Given the description of an element on the screen output the (x, y) to click on. 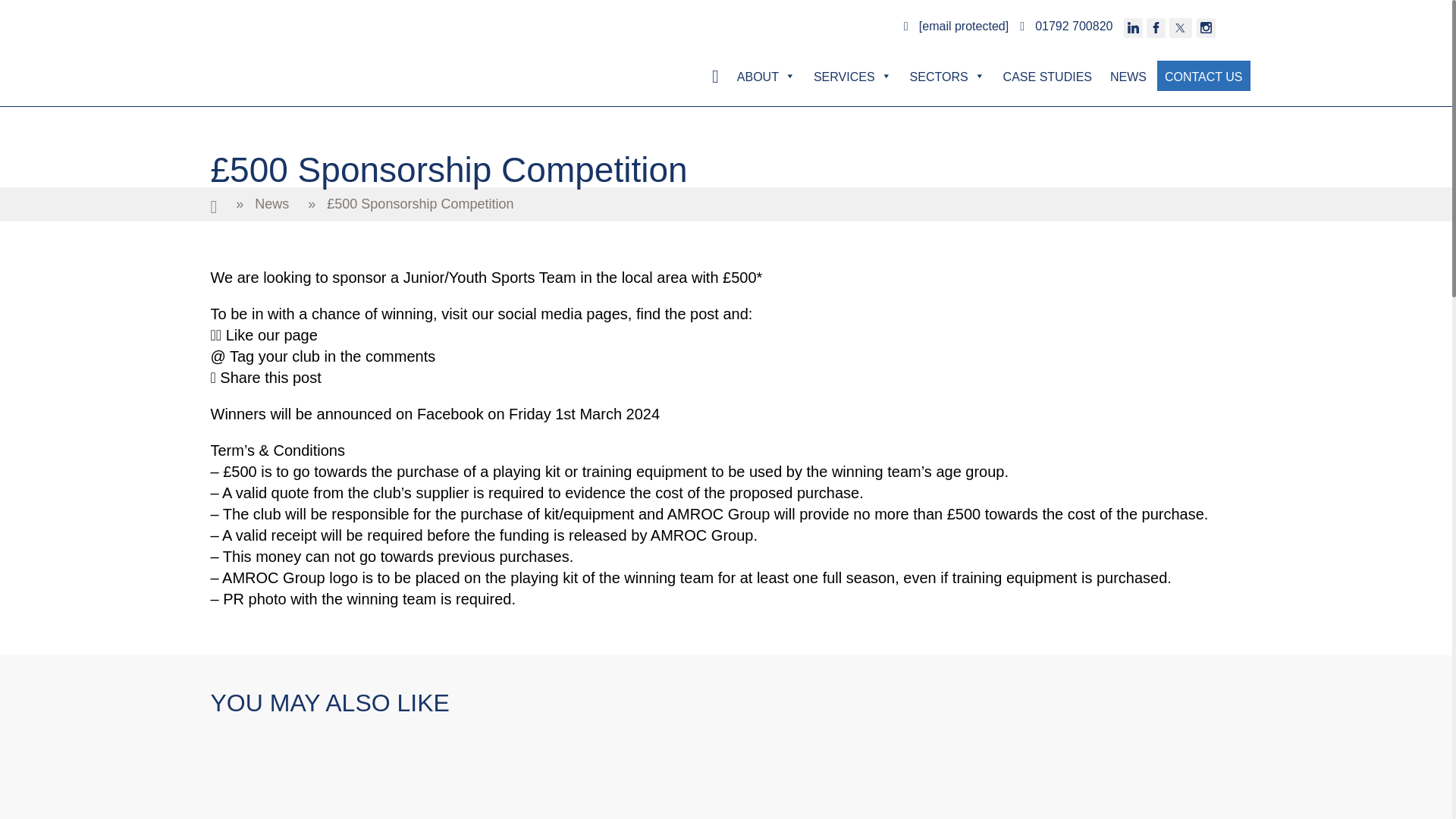
CONTACT US (1203, 75)
SERVICES (852, 75)
AMROC Group (294, 75)
Services (852, 75)
Follow us on Twitter (1180, 27)
Home (213, 205)
01792 700820 (1069, 26)
ABOUT (766, 75)
News (271, 203)
AMROC Group (294, 75)
Find us on Facebook (1156, 27)
Find us on Linkedin (1133, 27)
About (766, 75)
SECTORS (947, 75)
NEWS (1128, 75)
